Given the description of an element on the screen output the (x, y) to click on. 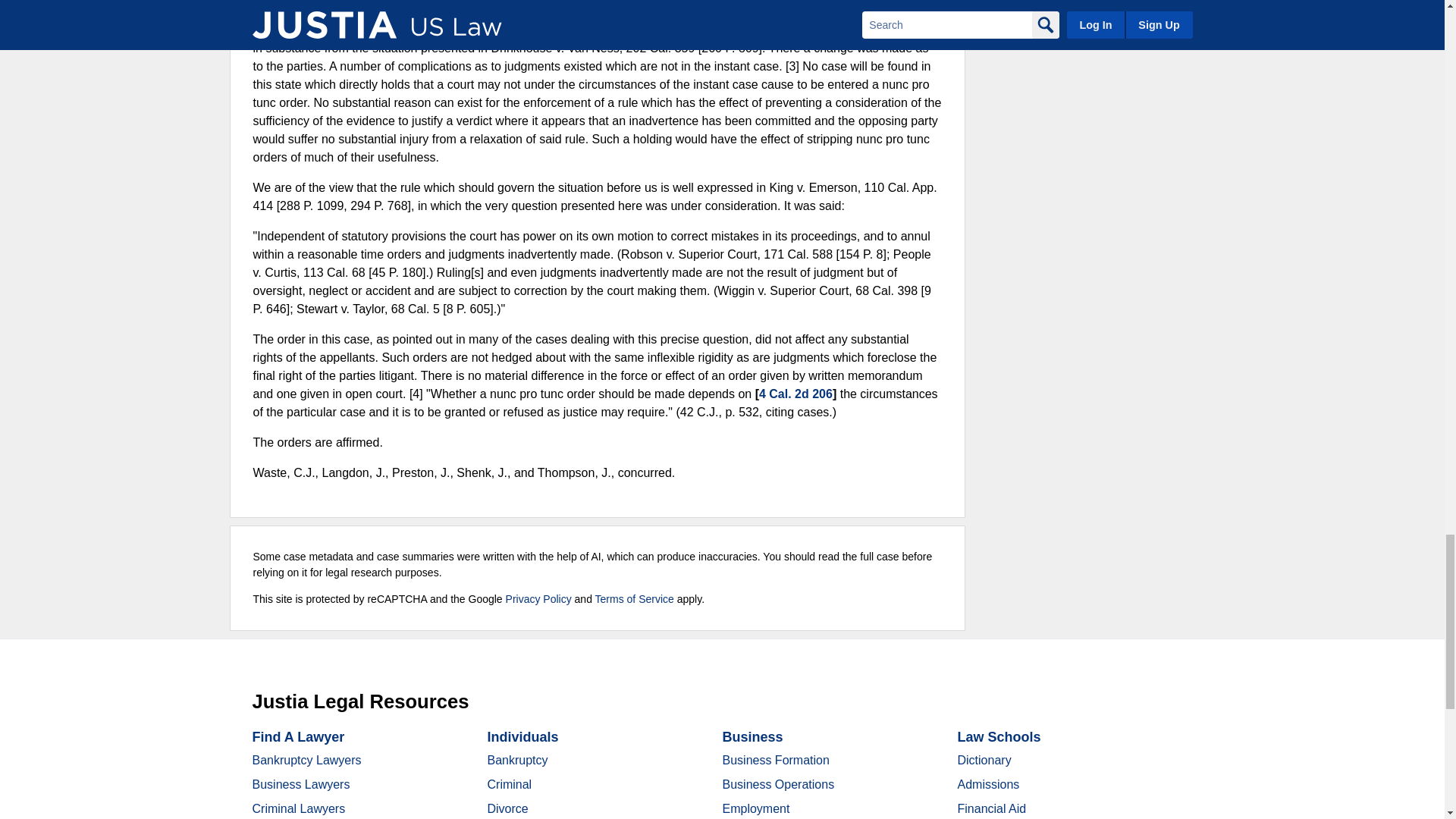
Terms of Service (634, 598)
4 Cal. 2d 206 (795, 393)
Privacy Policy (538, 598)
